Given the description of an element on the screen output the (x, y) to click on. 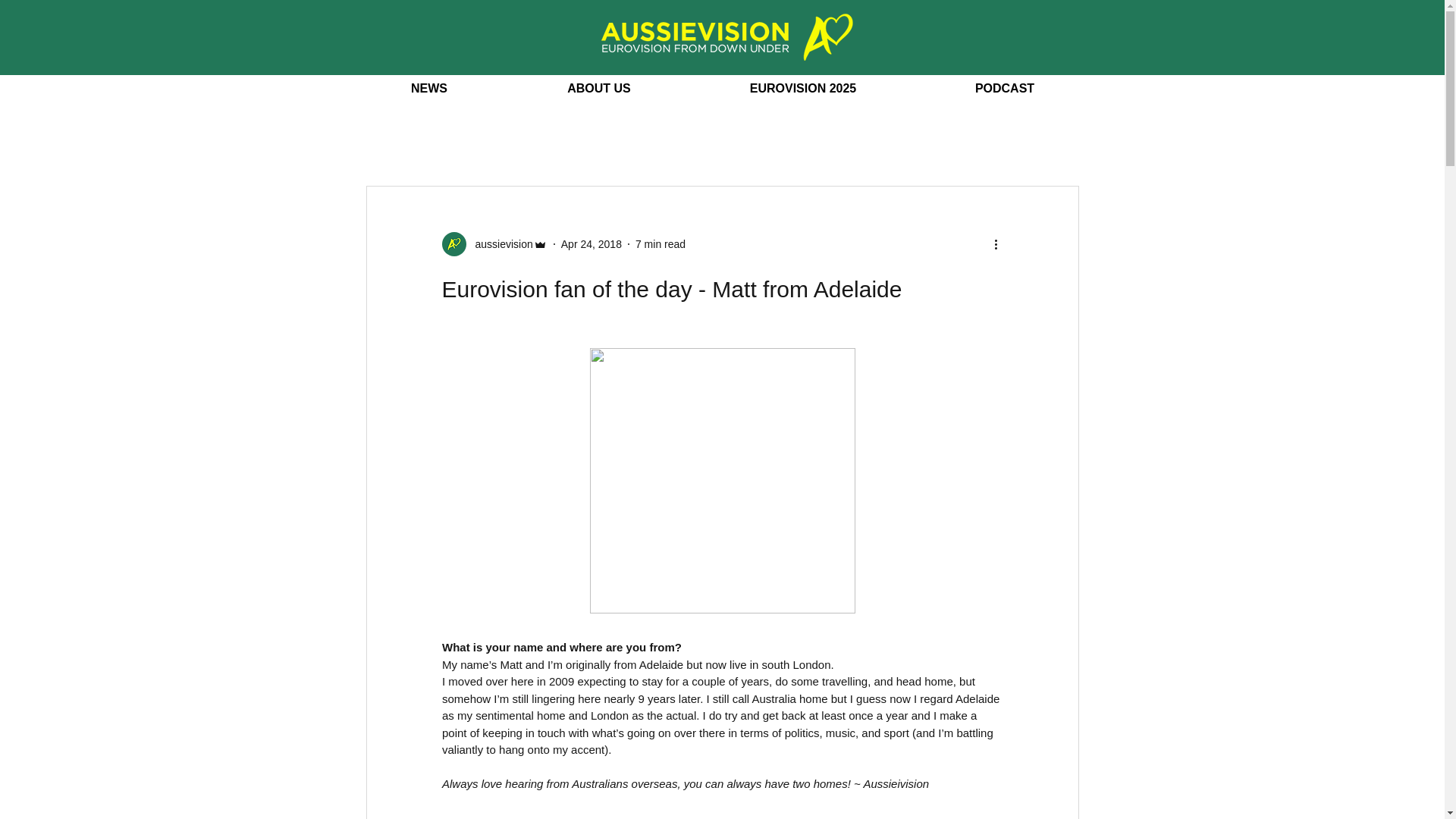
Apr 24, 2018 (590, 244)
NEWS (428, 88)
PODCAST (1004, 88)
EUROVISION 2025 (802, 88)
7 min read (659, 244)
ABOUT US (599, 88)
aussievision (498, 244)
